Given the description of an element on the screen output the (x, y) to click on. 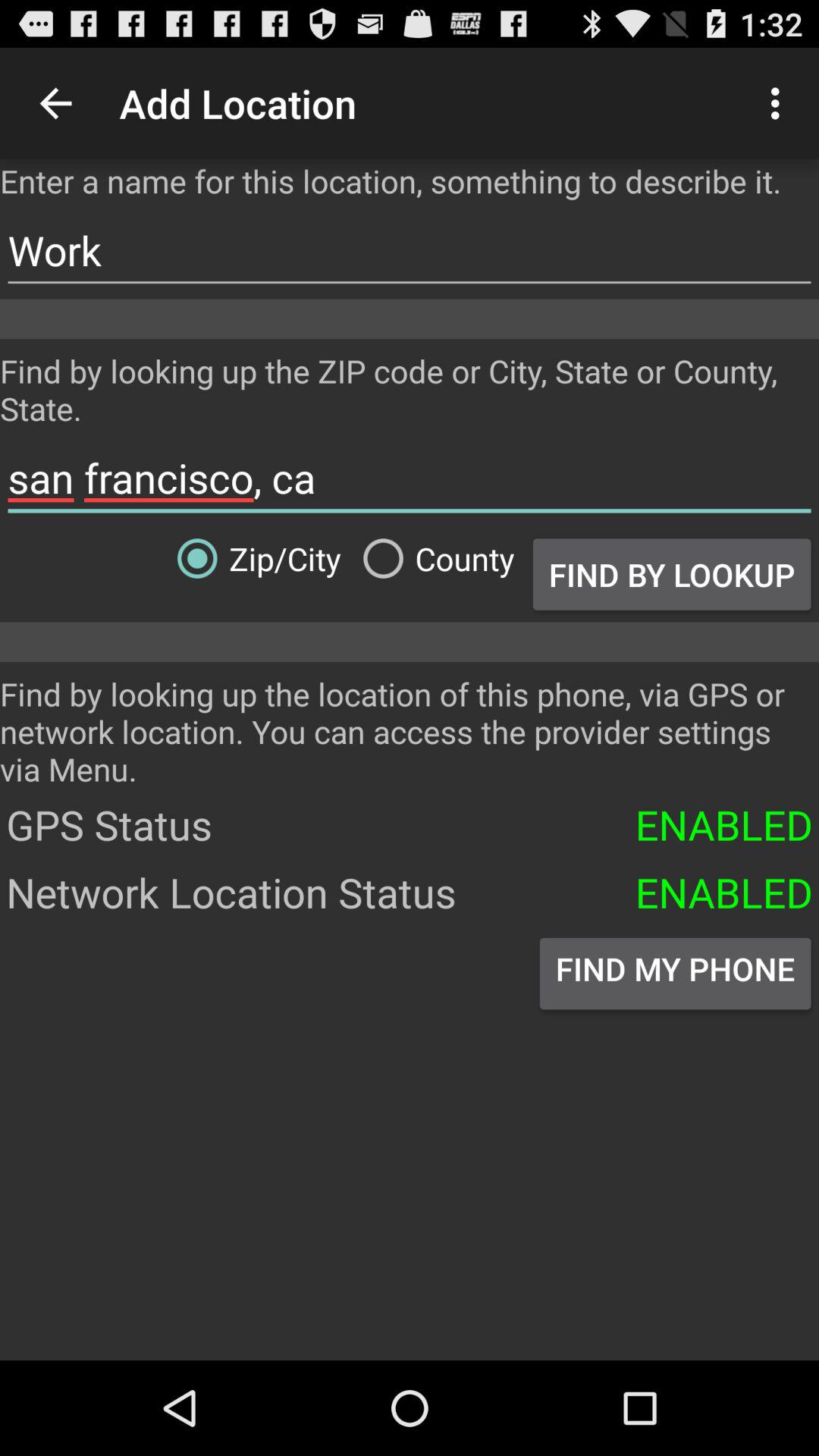
open icon above enter a name item (55, 103)
